Given the description of an element on the screen output the (x, y) to click on. 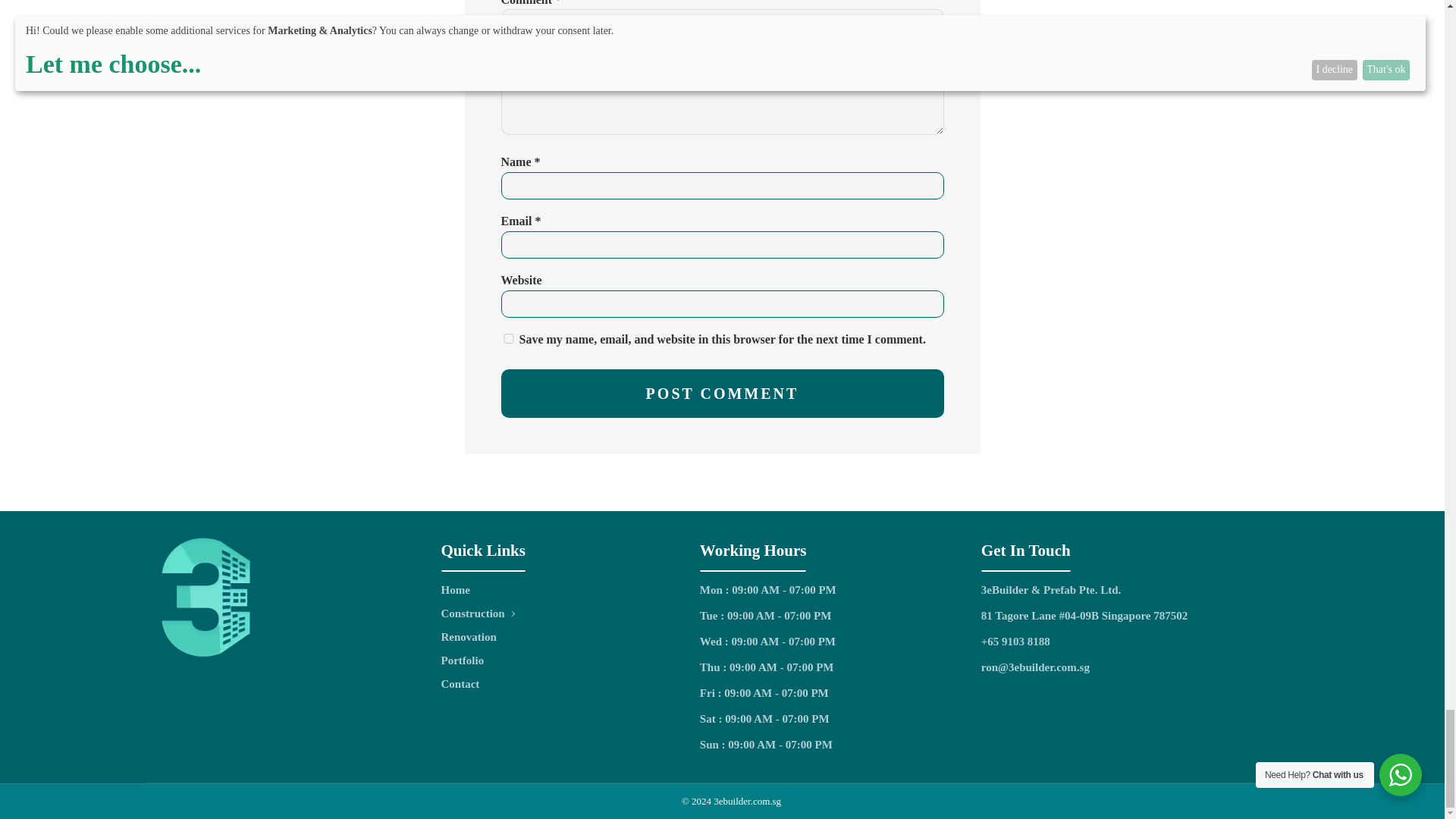
Portfolio (478, 660)
Post Comment (721, 393)
Contact (478, 684)
Post Comment (721, 393)
Renovation (478, 637)
Construction (478, 613)
Home (478, 589)
yes (507, 338)
